Given the description of an element on the screen output the (x, y) to click on. 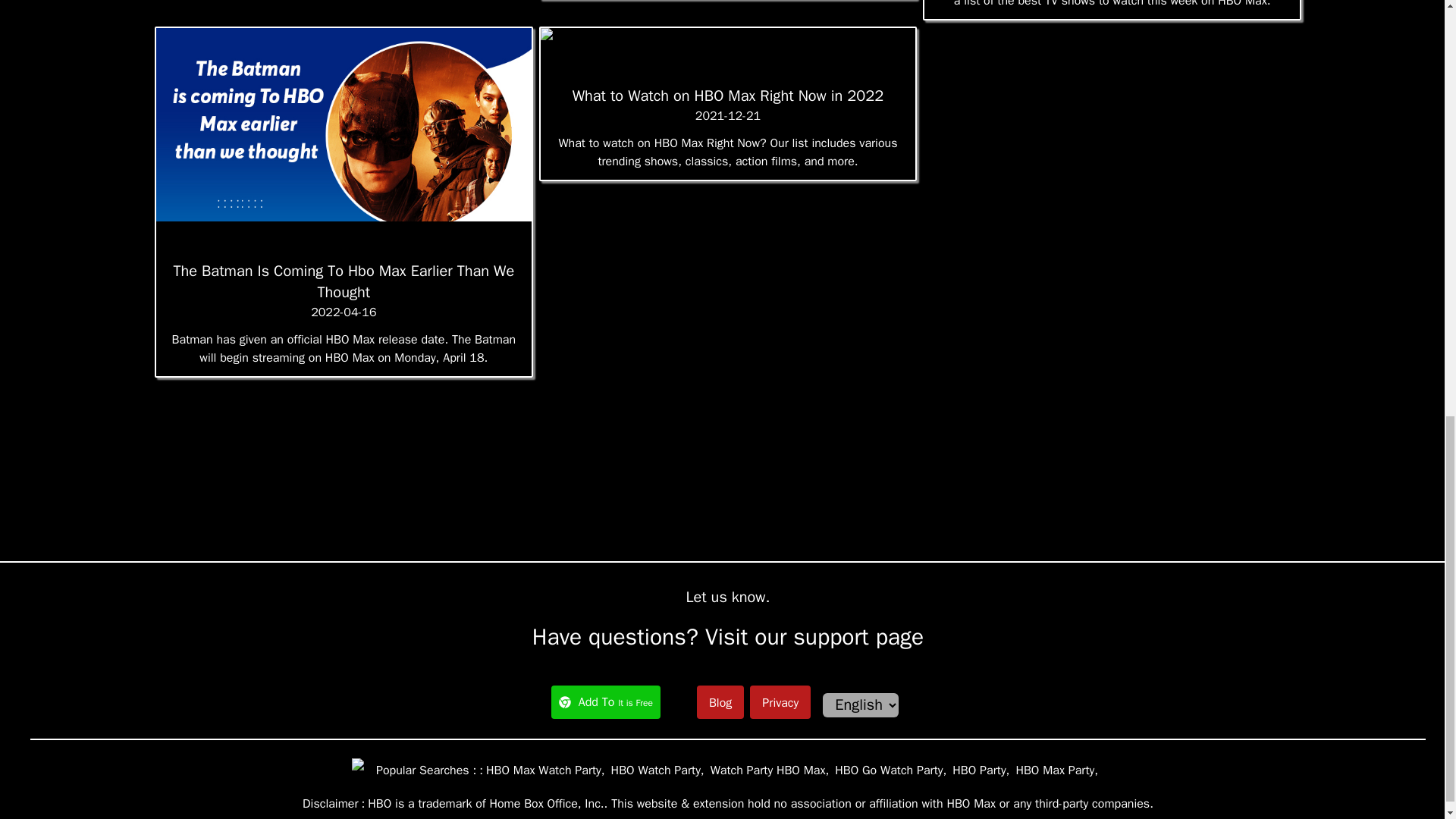
Blog (720, 702)
Privacy (780, 701)
Privacy (779, 702)
Add To It is Free (606, 702)
Blog (720, 701)
